Given the description of an element on the screen output the (x, y) to click on. 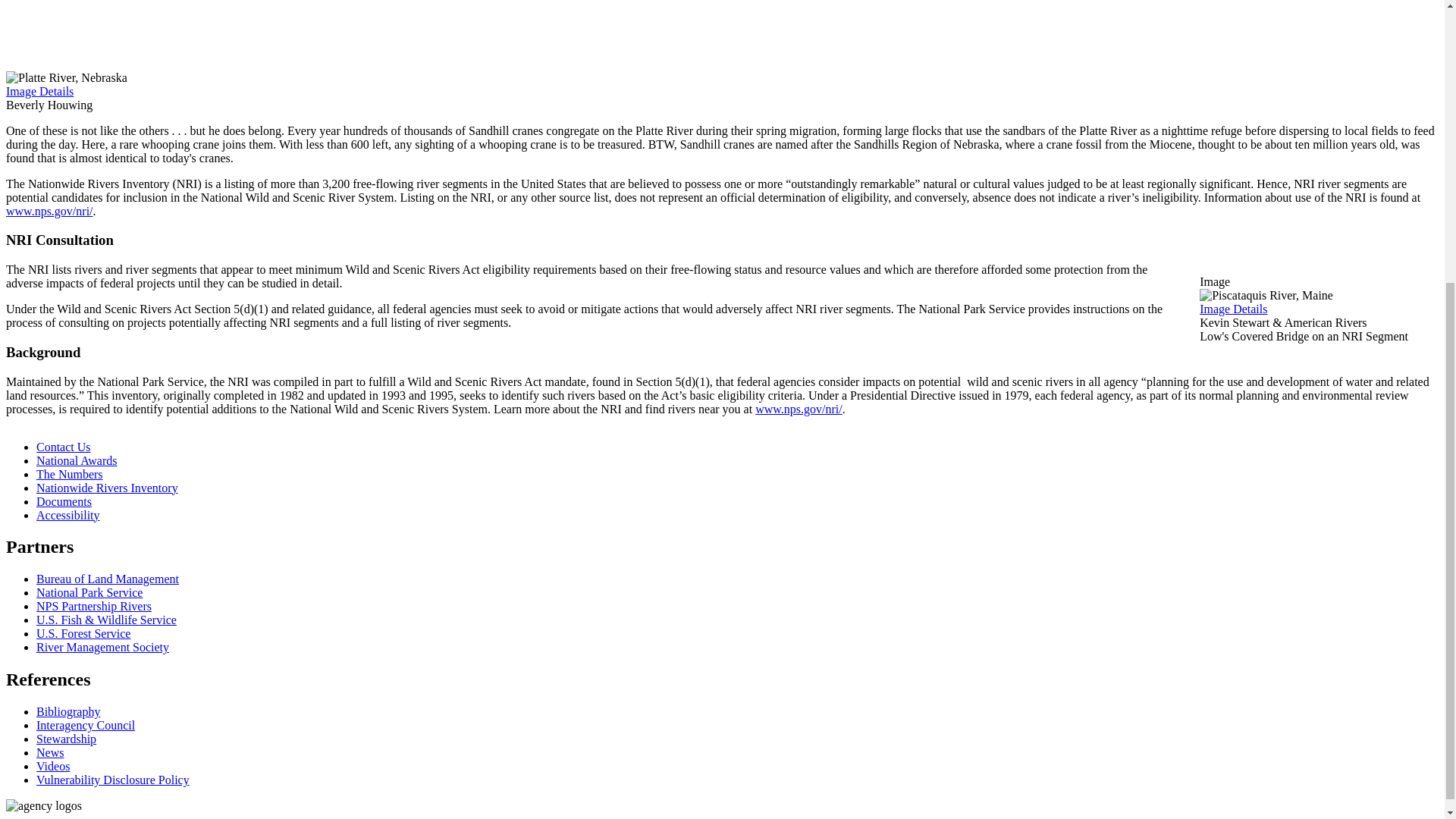
Accessibility (68, 514)
Accessibility statement from Rivers.gov (68, 514)
Bureau of Land Management (107, 578)
U.S. Forest Service (83, 633)
National Awards (76, 460)
National Park Service (89, 592)
Nationwide Rivers Inventory (106, 487)
NPS Partnership Rivers (93, 605)
Documents (63, 501)
Image Details (39, 91)
